Given the description of an element on the screen output the (x, y) to click on. 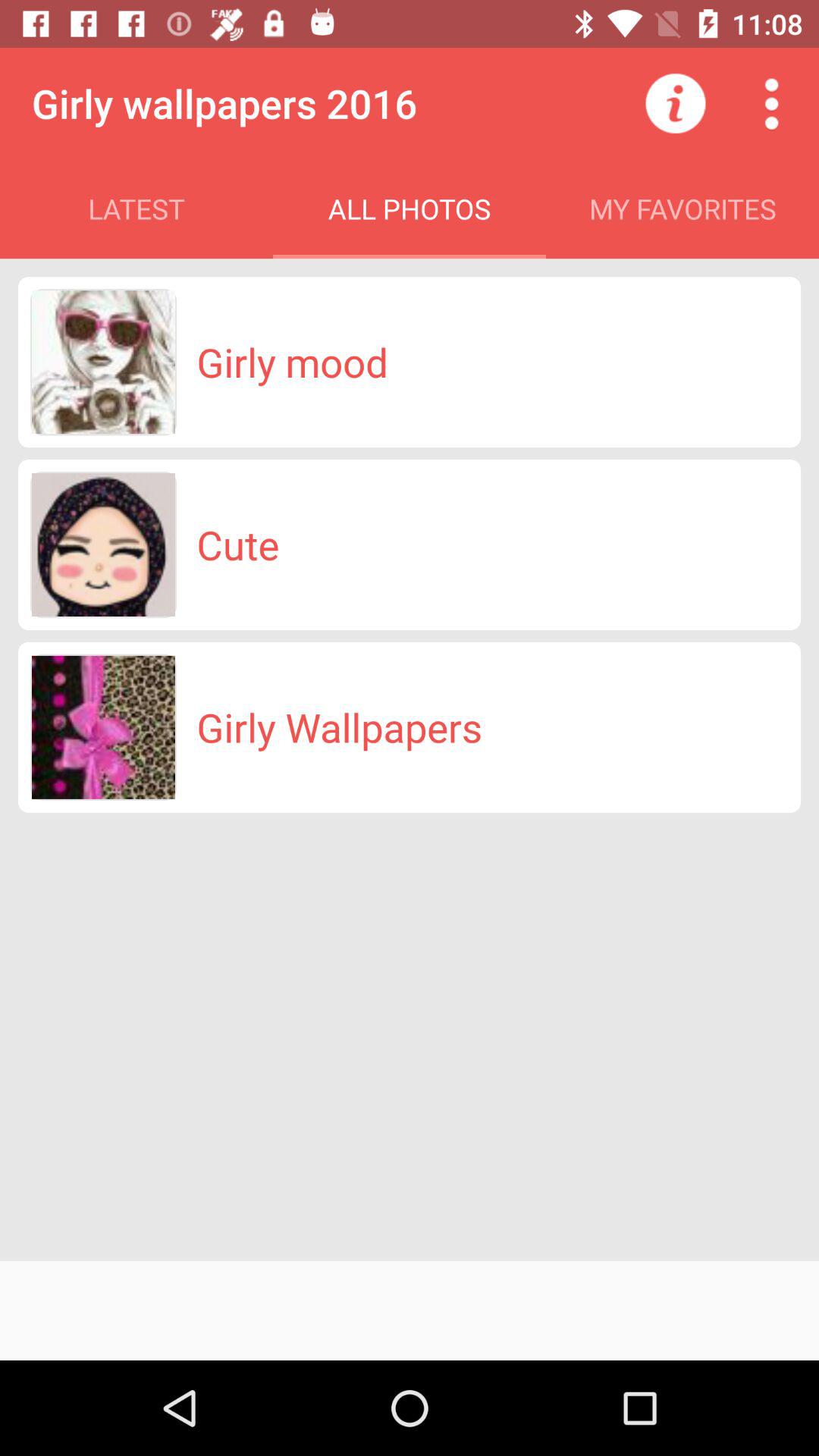
open more options (771, 103)
